Given the description of an element on the screen output the (x, y) to click on. 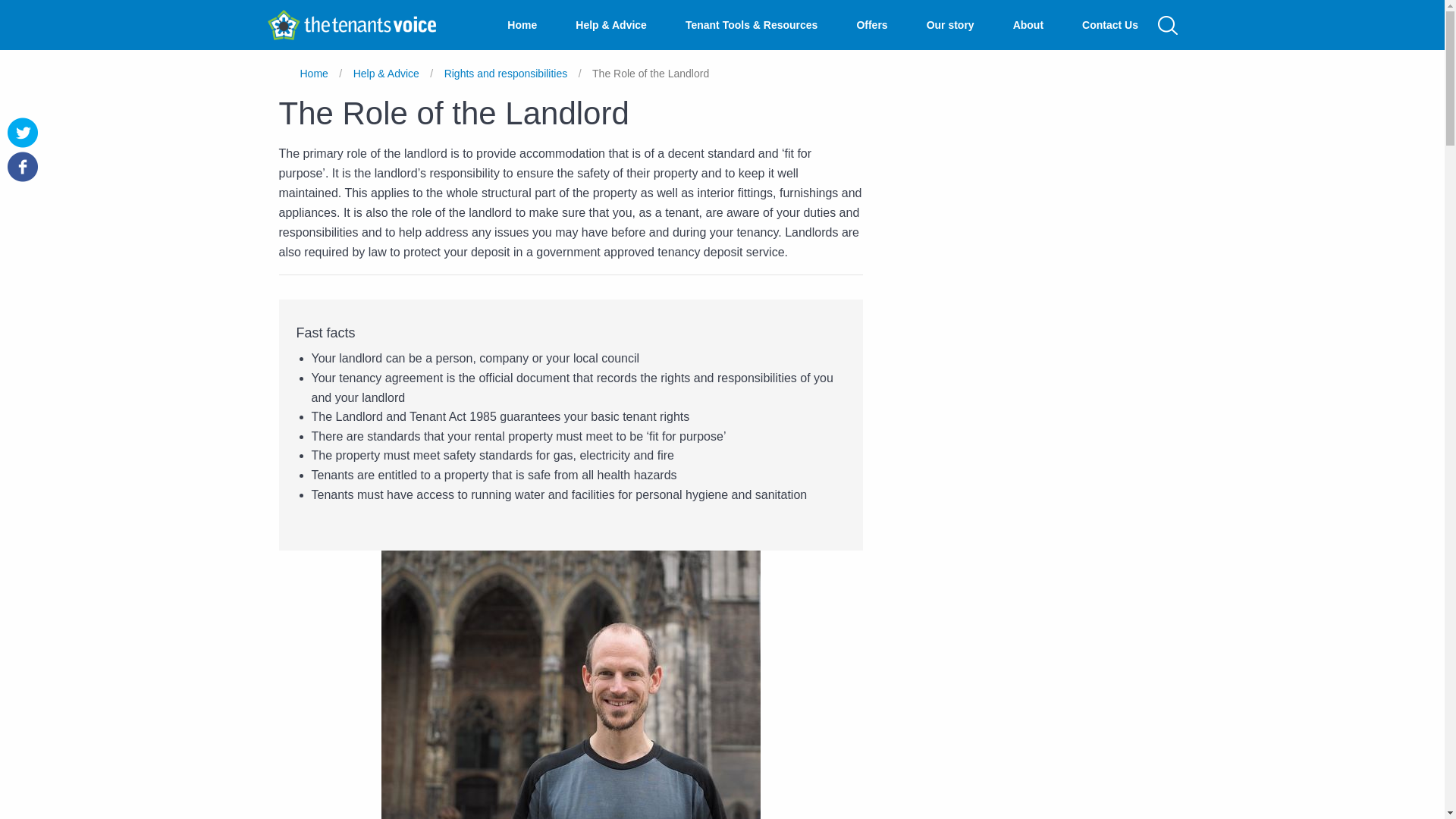
the role of the landlord ttv (570, 684)
